Given the description of an element on the screen output the (x, y) to click on. 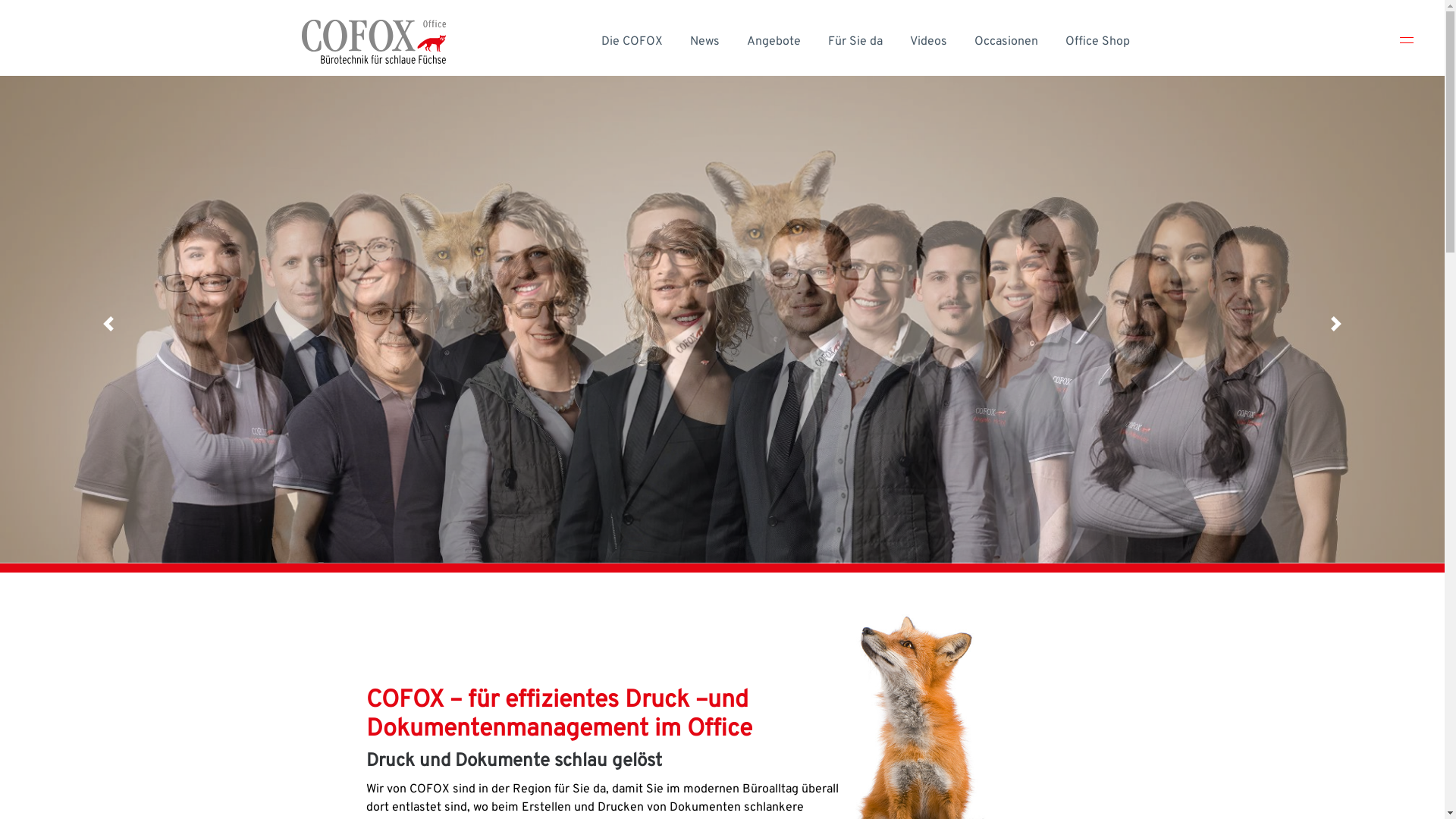
Previous Element type: text (108, 323)
News Element type: text (704, 41)
Office Shop Element type: text (1096, 41)
Angebote Element type: text (772, 41)
Occasionen Element type: text (1005, 41)
Videos Element type: text (928, 41)
Next Element type: text (1335, 323)
Die COFOX Element type: text (630, 41)
